Given the description of an element on the screen output the (x, y) to click on. 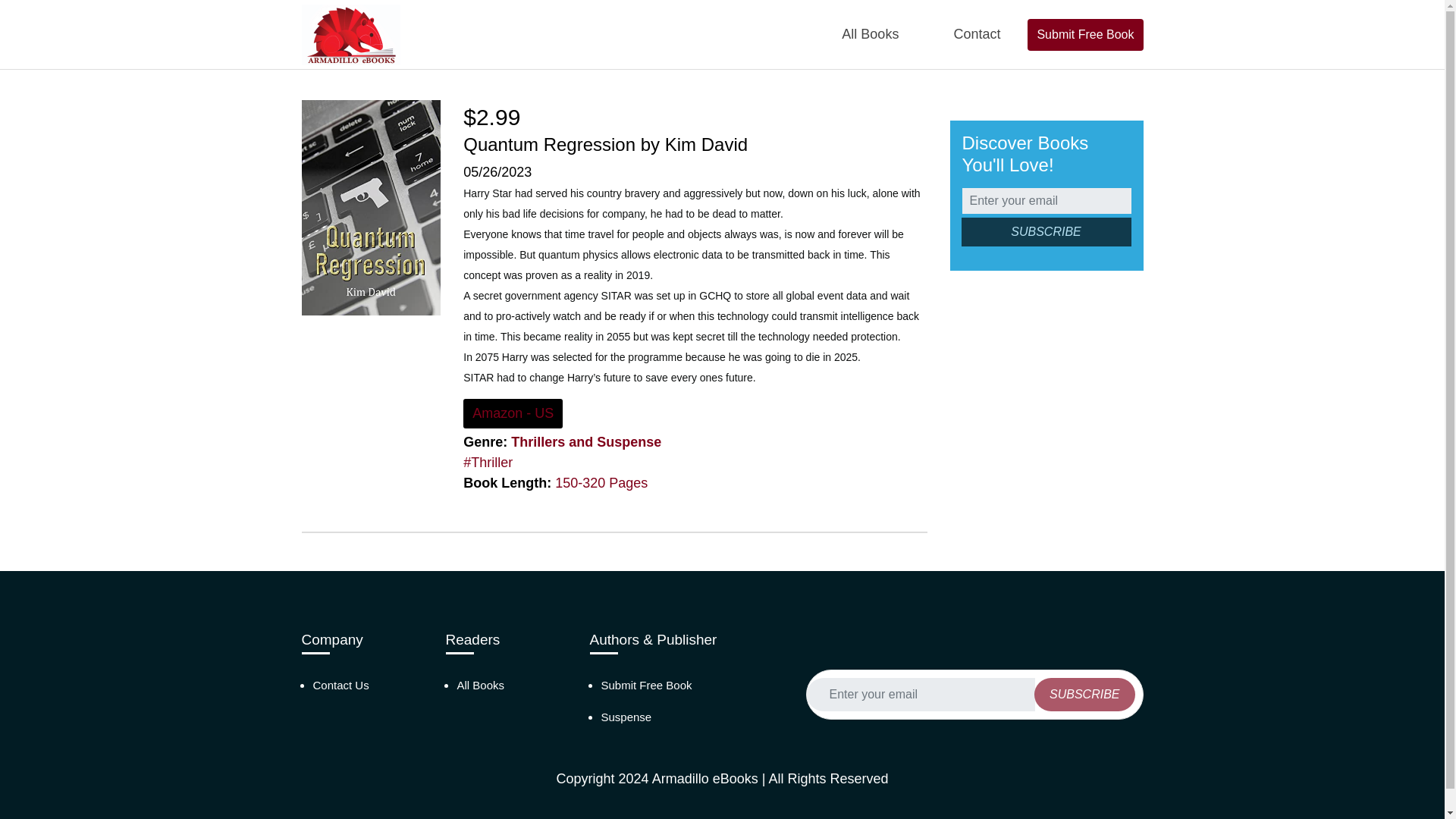
Amazon - US (512, 413)
Subscribe (1083, 694)
All Books (480, 684)
Contact Us (340, 684)
Submit Free Book (1084, 33)
Subscribe (1045, 231)
Subscribe (1045, 231)
Suspense (624, 716)
Thrillers and Suspense (586, 441)
Contact (975, 34)
